Given the description of an element on the screen output the (x, y) to click on. 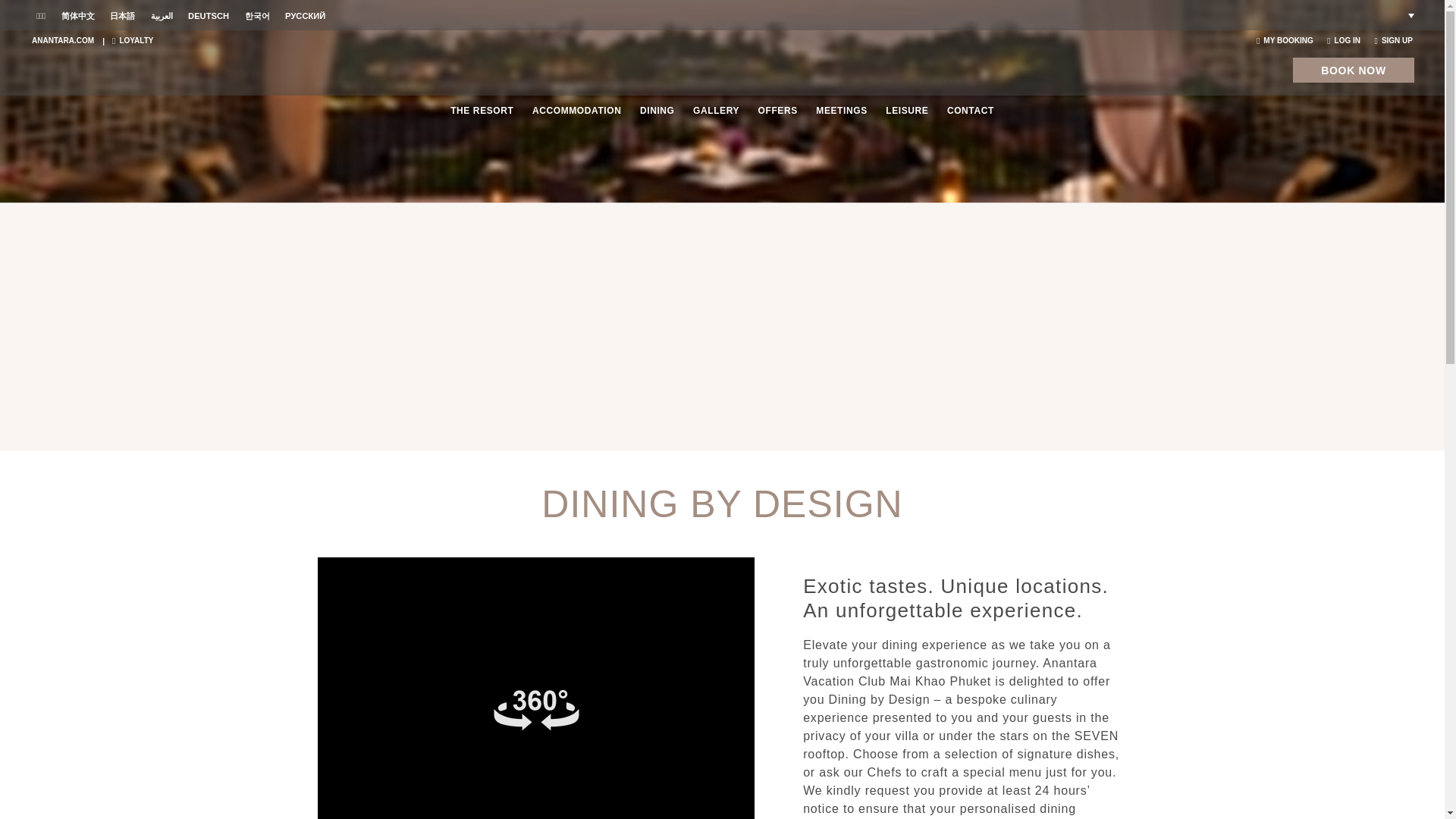
BOOK NOW (1352, 69)
DEUTSCH (208, 16)
LOG IN (1342, 40)
SIGN UP (1393, 40)
MY BOOKING (1284, 40)
ANANTARA.COM (63, 40)
LOYALTY (132, 40)
